Given the description of an element on the screen output the (x, y) to click on. 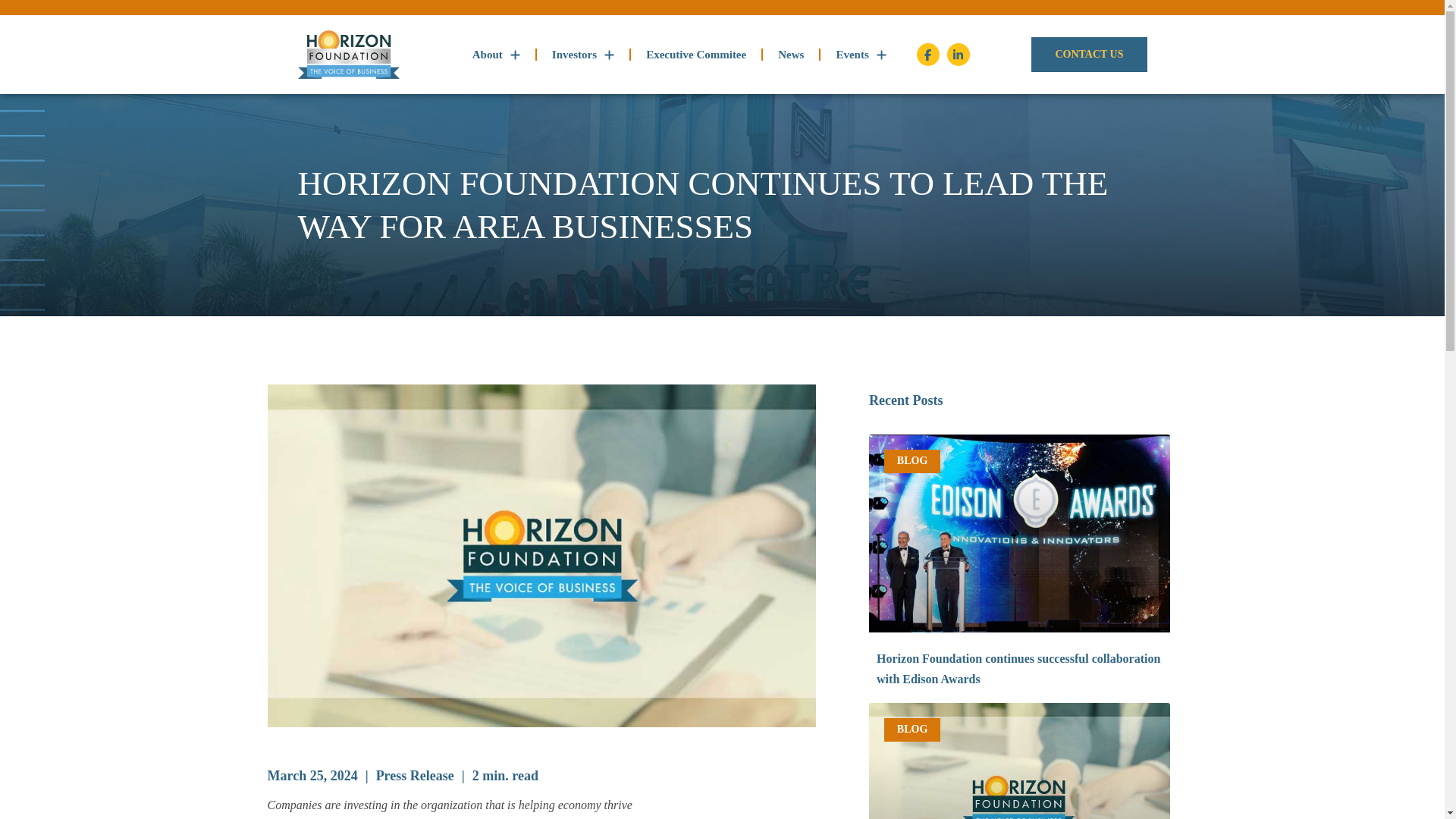
Linkedin-in (958, 54)
Events (860, 54)
CONTACT US (1088, 54)
News (791, 54)
Investors (582, 54)
Facebook-f (928, 54)
About (496, 54)
Executive Commitee (695, 54)
